Given the description of an element on the screen output the (x, y) to click on. 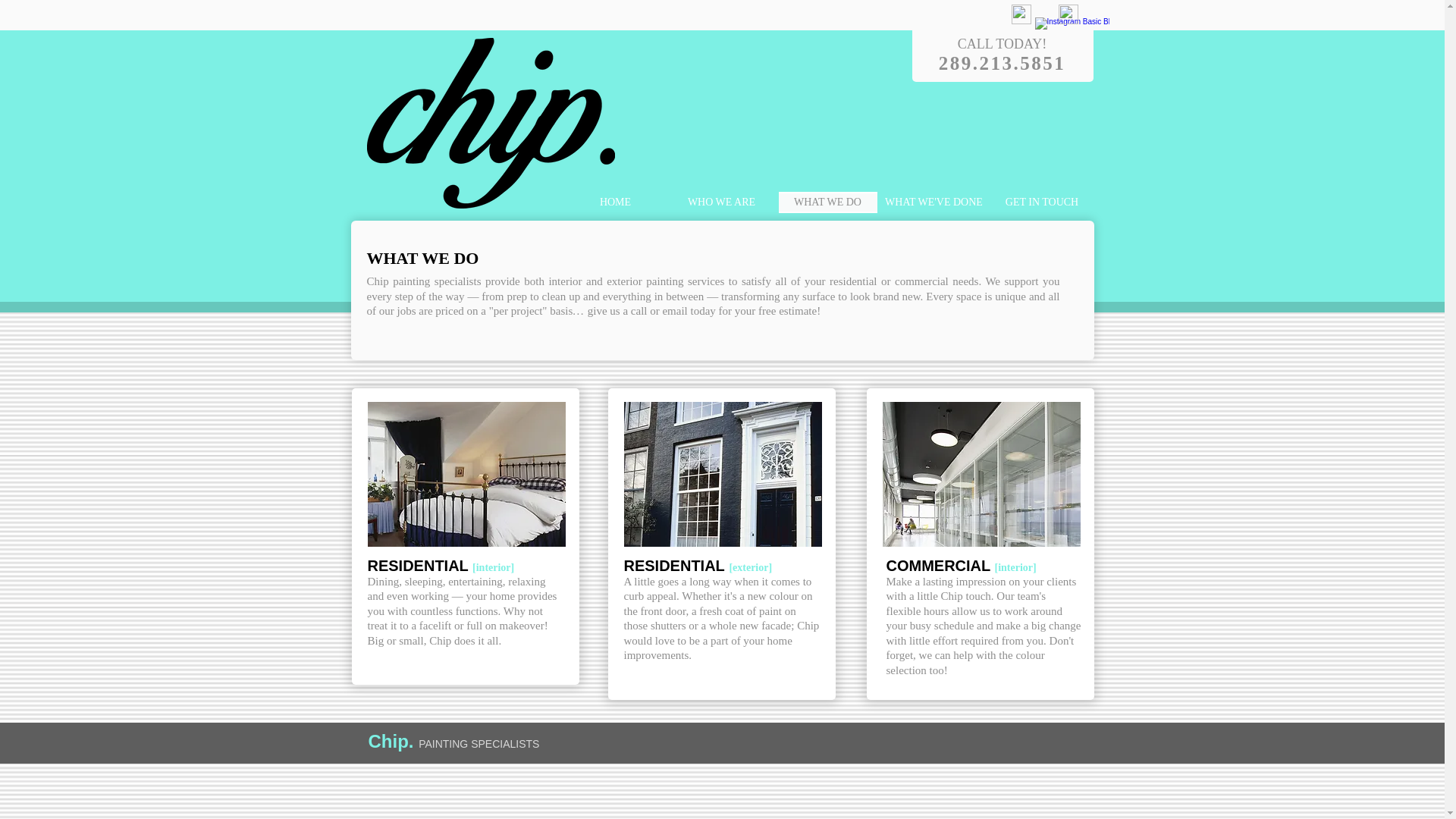
PAINTING SPECIALISTS (478, 743)
HOME (615, 201)
Office Hallway (981, 474)
Cozy Bedroom (465, 474)
Townhouse (722, 474)
WHAT WE'VE DONE (933, 201)
Chip.  (393, 741)
WHO WE ARE (721, 201)
WHAT WE DO (827, 201)
GET IN TOUCH (1040, 201)
